Given the description of an element on the screen output the (x, y) to click on. 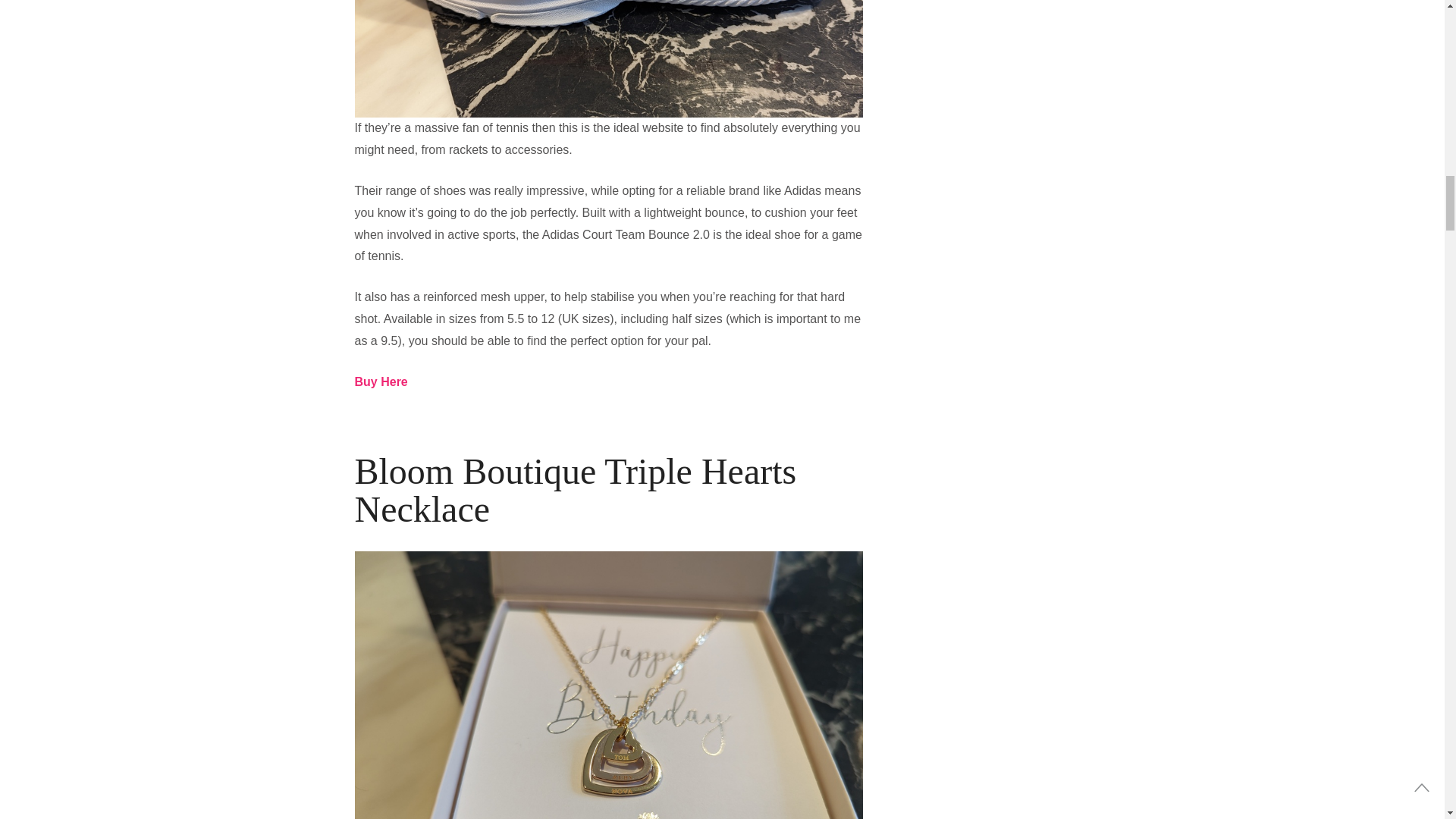
Buy Here (381, 381)
